Given the description of an element on the screen output the (x, y) to click on. 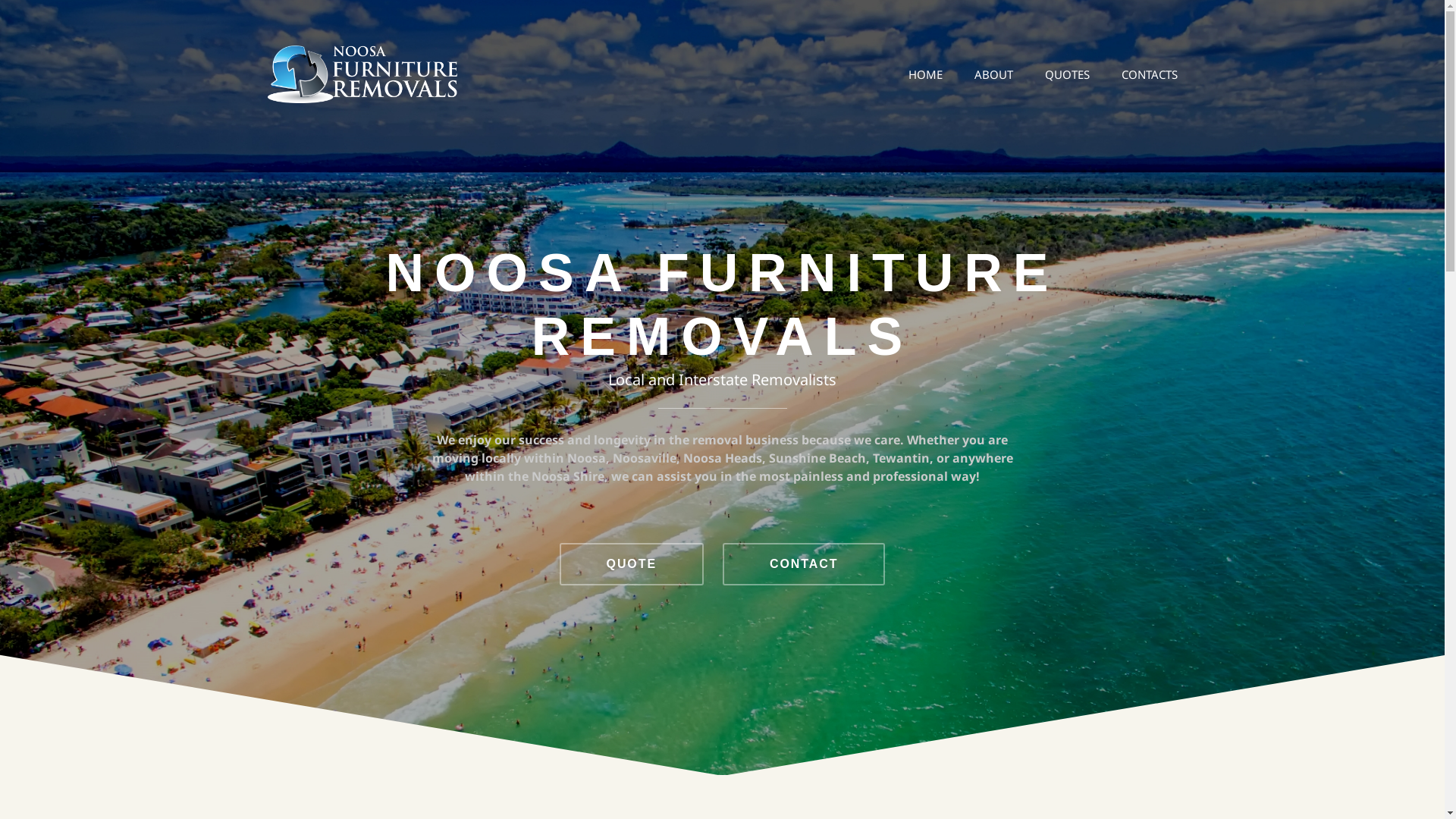
QUOTES Element type: text (1066, 73)
HOME Element type: text (925, 73)
CONTACT Element type: text (803, 563)
ABOUT Element type: text (992, 73)
CONTACTS Element type: text (1148, 73)
QUOTE Element type: text (631, 563)
